Given the description of an element on the screen output the (x, y) to click on. 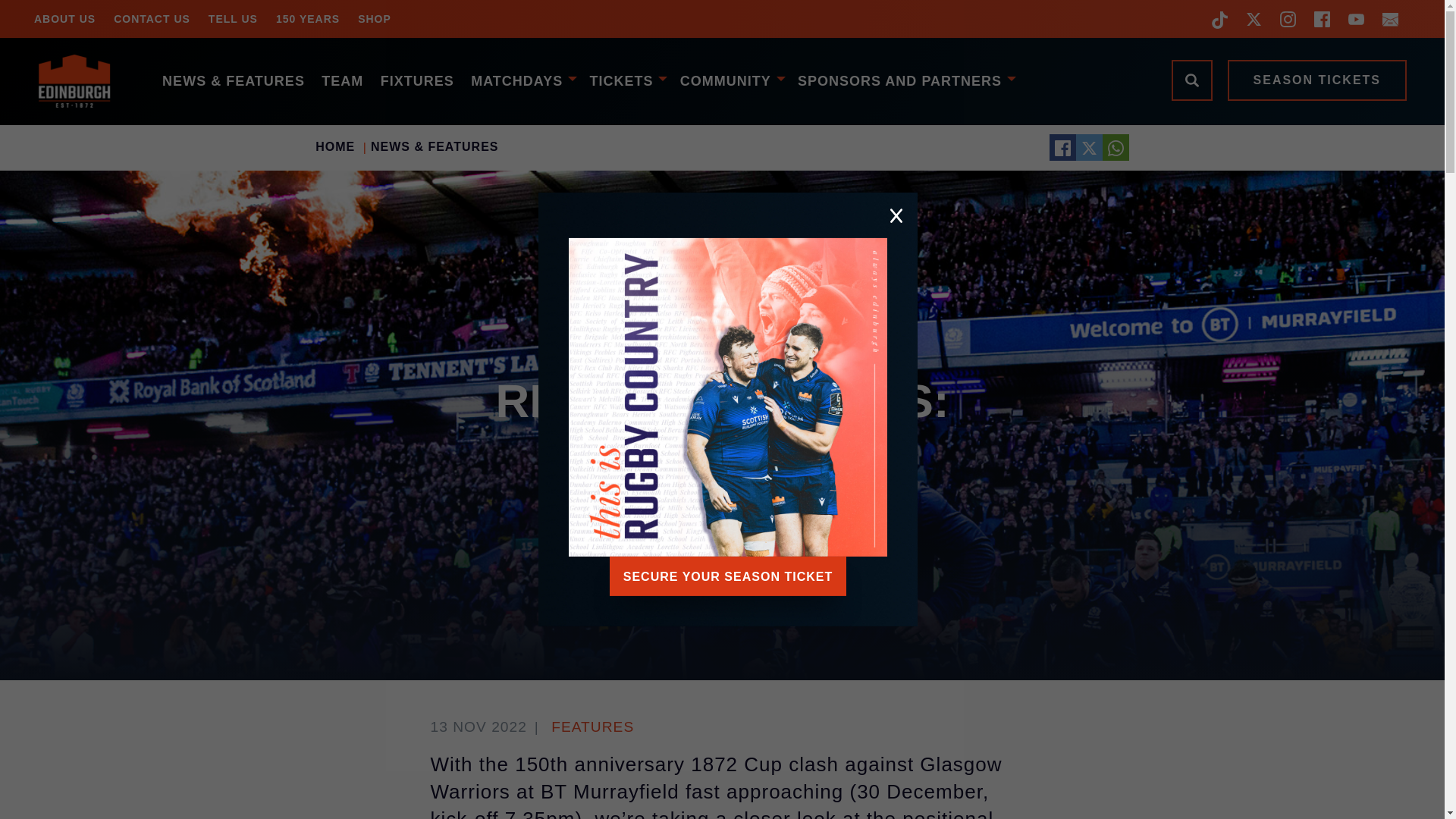
MATCHDAYS (521, 80)
SPONSORS AND PARTNERS (904, 80)
CONTACT US (151, 18)
SHOP (374, 18)
COMMUNITY (730, 80)
150 YEARS (307, 18)
TEAM (342, 80)
FIXTURES (416, 80)
TICKETS (625, 80)
TELL US (232, 18)
Home (84, 81)
SEASON TICKETS (1316, 79)
ABOUT US (64, 18)
